Given the description of an element on the screen output the (x, y) to click on. 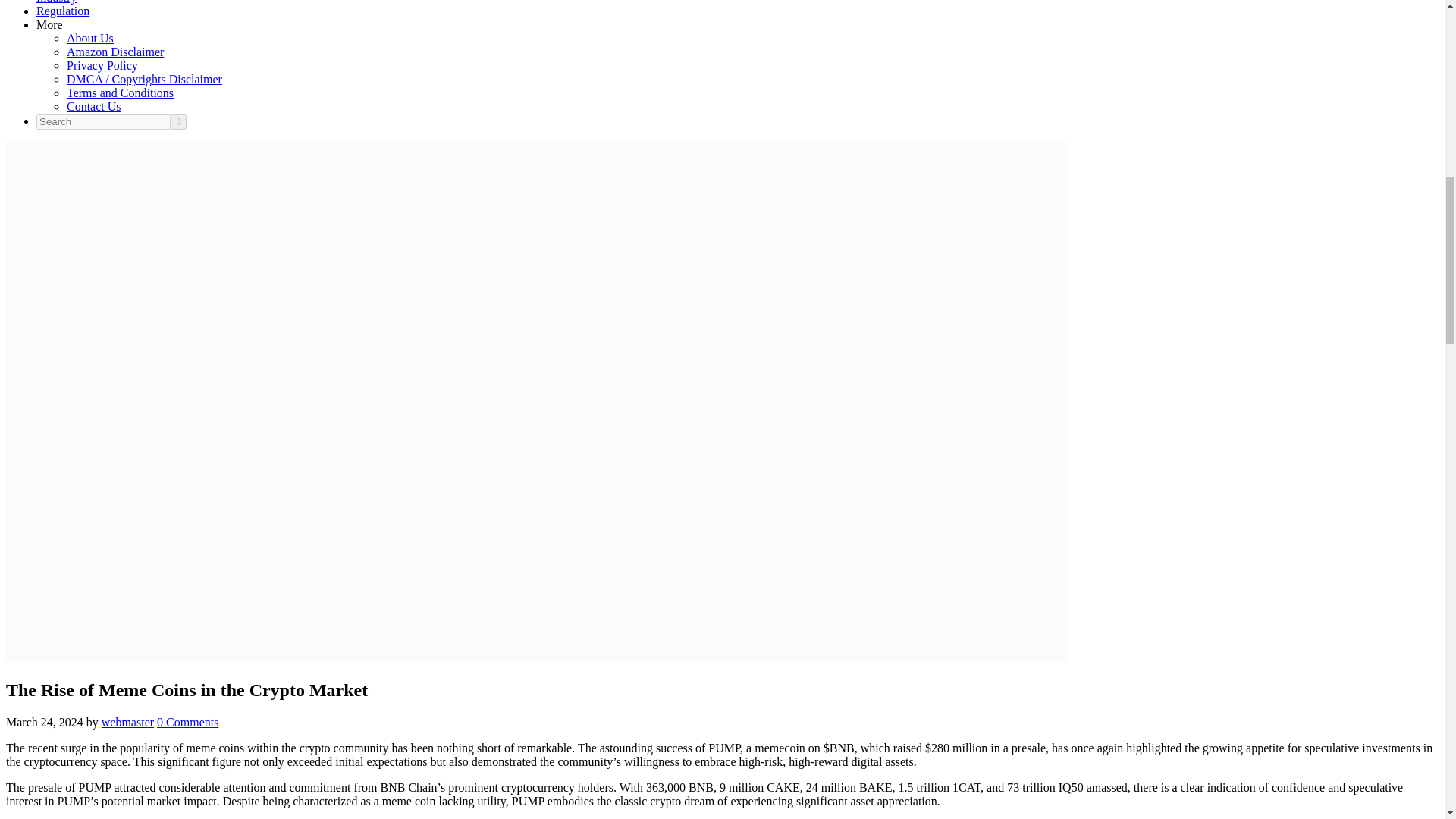
Contact Us (93, 106)
Regulation (62, 10)
More (49, 24)
Privacy Policy (102, 65)
Terms and Conditions (119, 92)
About Us (89, 38)
Amazon Disclaimer (114, 51)
Industry (56, 2)
